Given the description of an element on the screen output the (x, y) to click on. 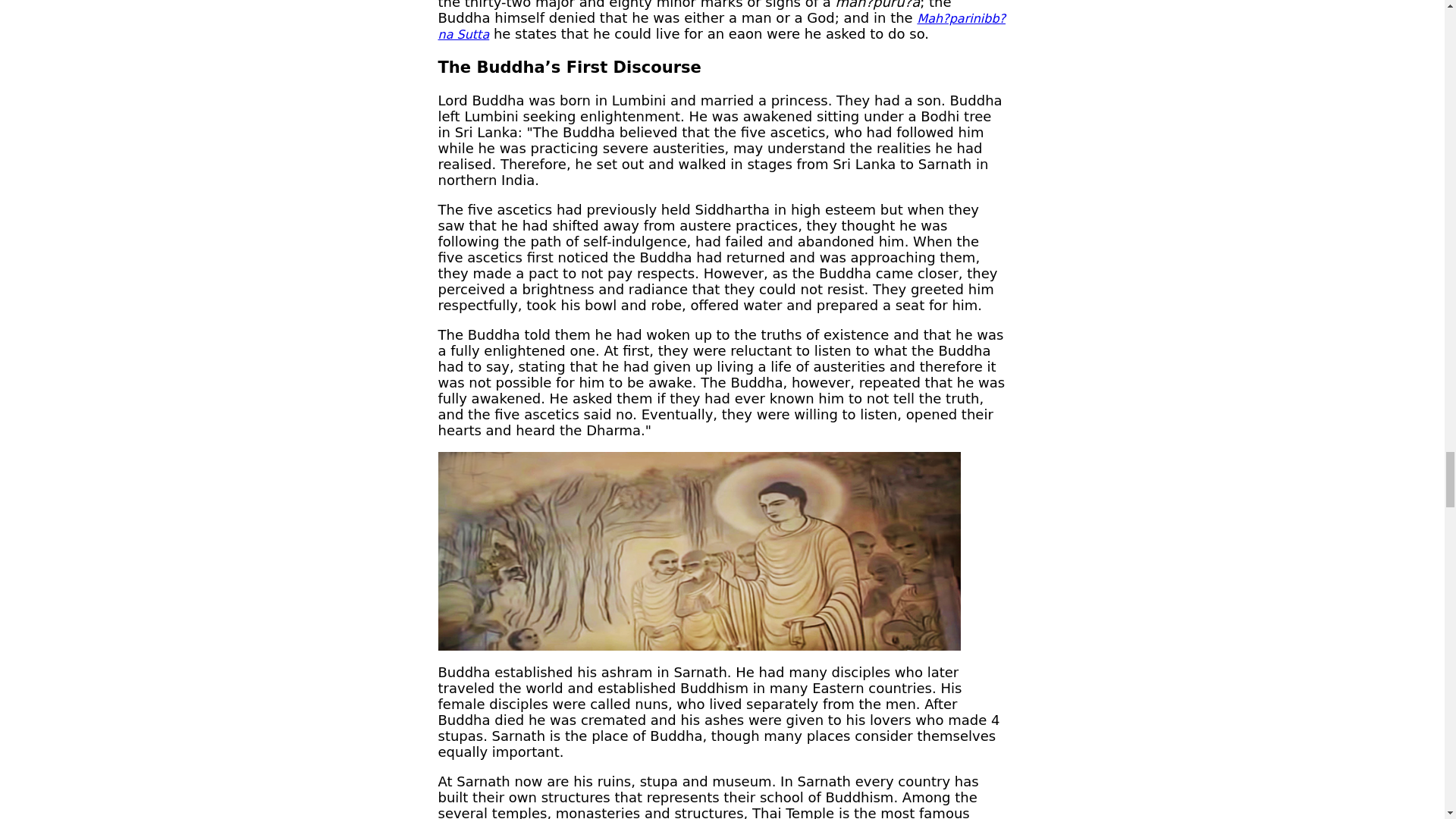
Mahaparinibbana Sutta (722, 26)
Mah?parinibb?na Sutta (722, 26)
